Given the description of an element on the screen output the (x, y) to click on. 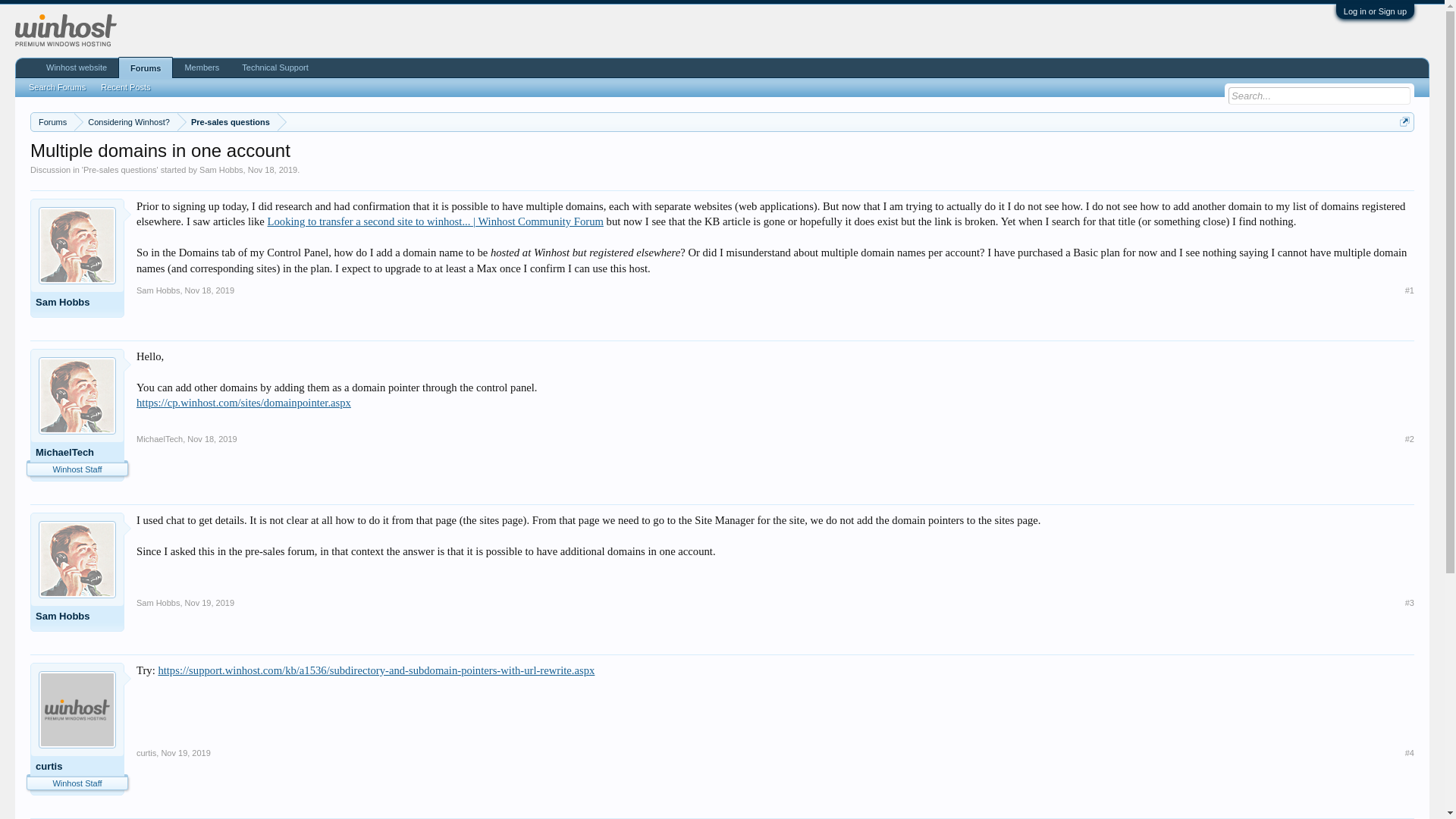
Sam Hobbs (157, 291)
Nov 18, 2019 at 2:03 PM (272, 169)
Nov 19, 2019 (184, 752)
Permalink (1409, 602)
Permalink (211, 438)
Pre-sales questions (227, 122)
Nov 18, 2019 (209, 289)
MichaelTech (76, 454)
Log in or Sign up (1374, 10)
Permalink (209, 289)
Open quick navigation (1404, 121)
Sam Hobbs (76, 304)
MichaelTech (159, 440)
Sam Hobbs (157, 604)
Permalink (1409, 290)
